Given the description of an element on the screen output the (x, y) to click on. 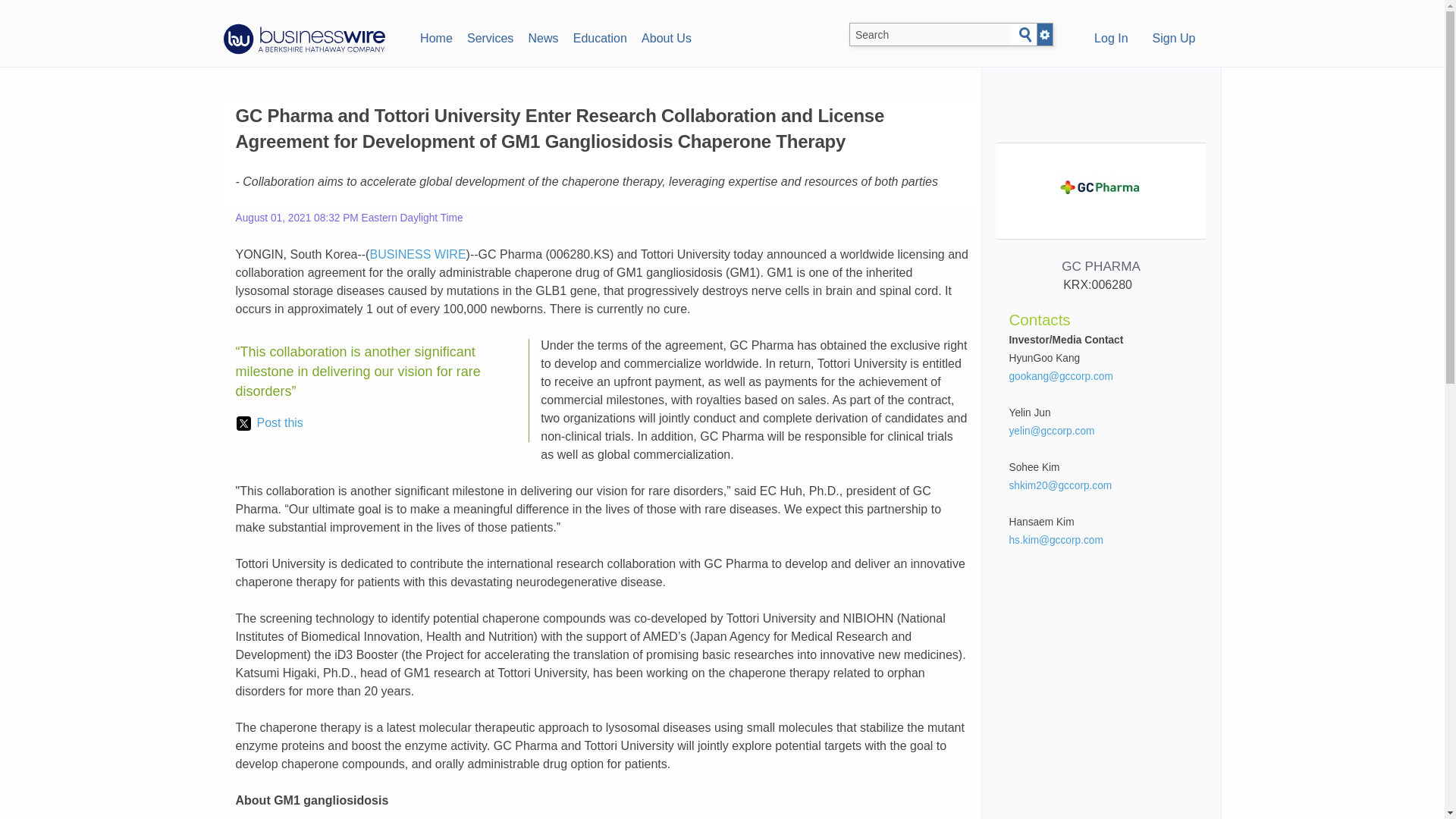
Search (1025, 34)
BUSINESS WIRE (417, 254)
Services (490, 36)
Education (599, 36)
Search BusinessWire.com (930, 34)
About Us (665, 36)
Post this (269, 422)
News (543, 36)
Home (436, 36)
